Given the description of an element on the screen output the (x, y) to click on. 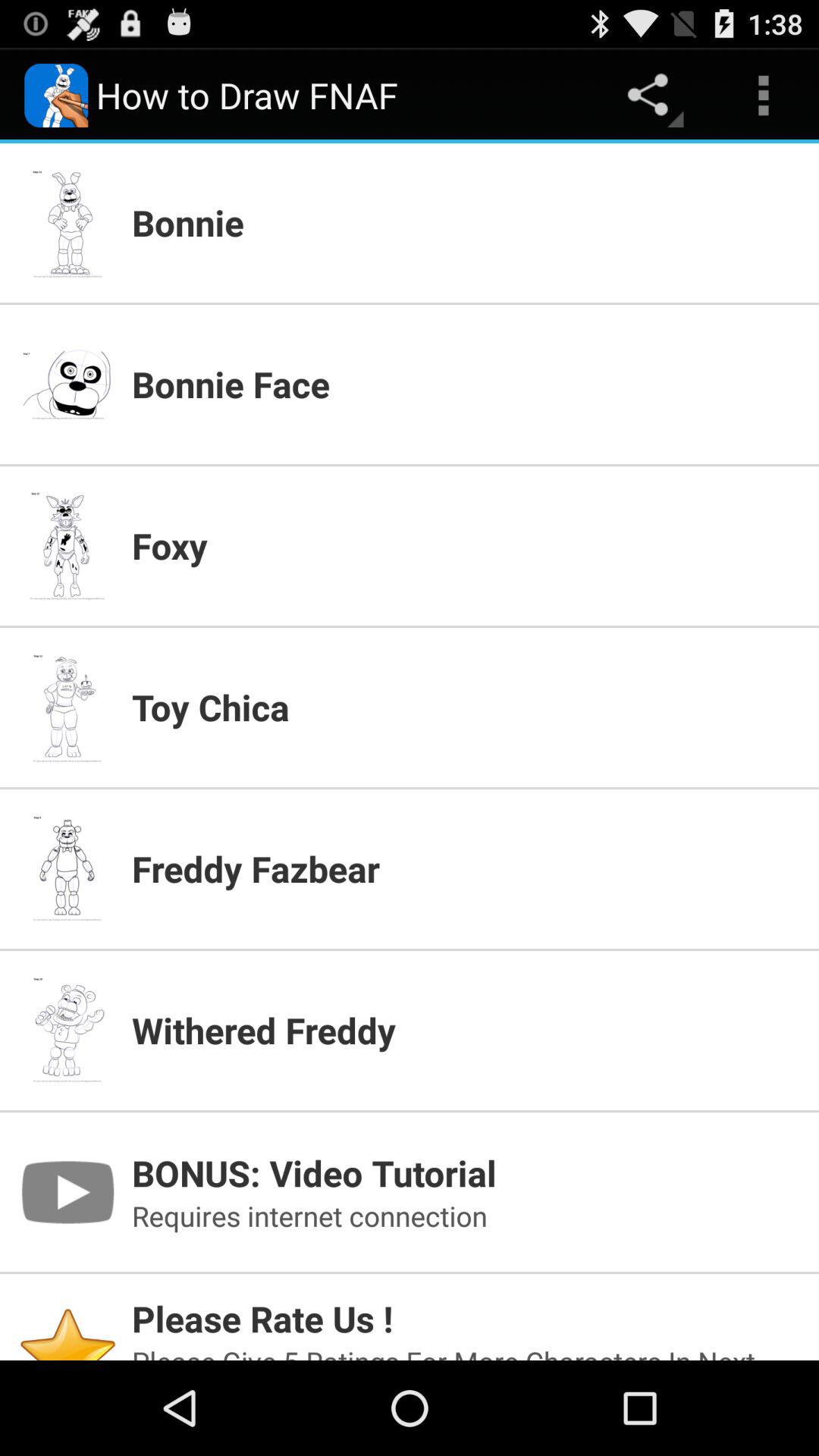
scroll until the please rate us ! (465, 1318)
